Given the description of an element on the screen output the (x, y) to click on. 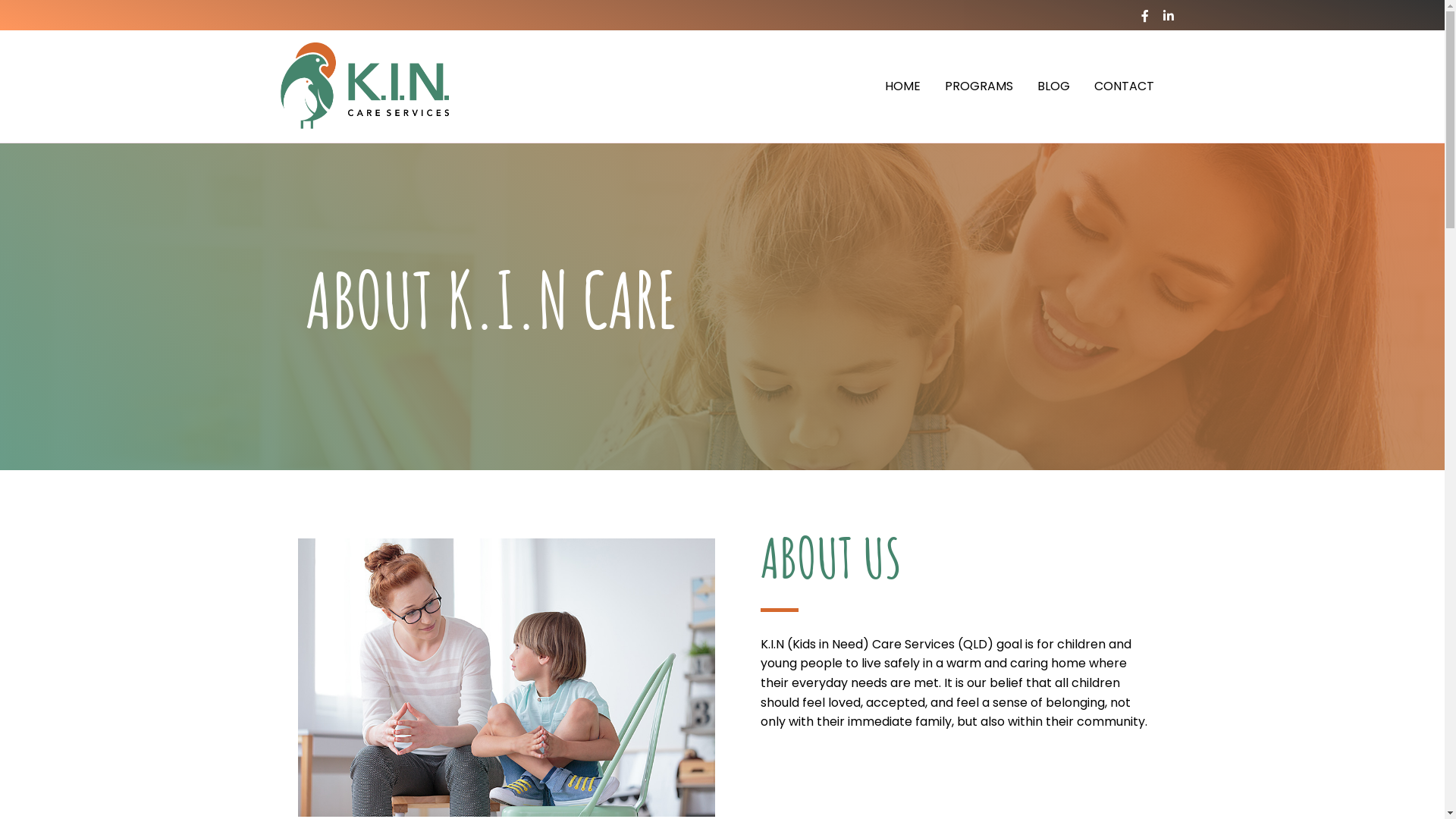
PROGRAMS Element type: text (978, 86)
BLOG Element type: text (1053, 86)
CONTACT Element type: text (1123, 86)
HOME Element type: text (901, 86)
